Given the description of an element on the screen output the (x, y) to click on. 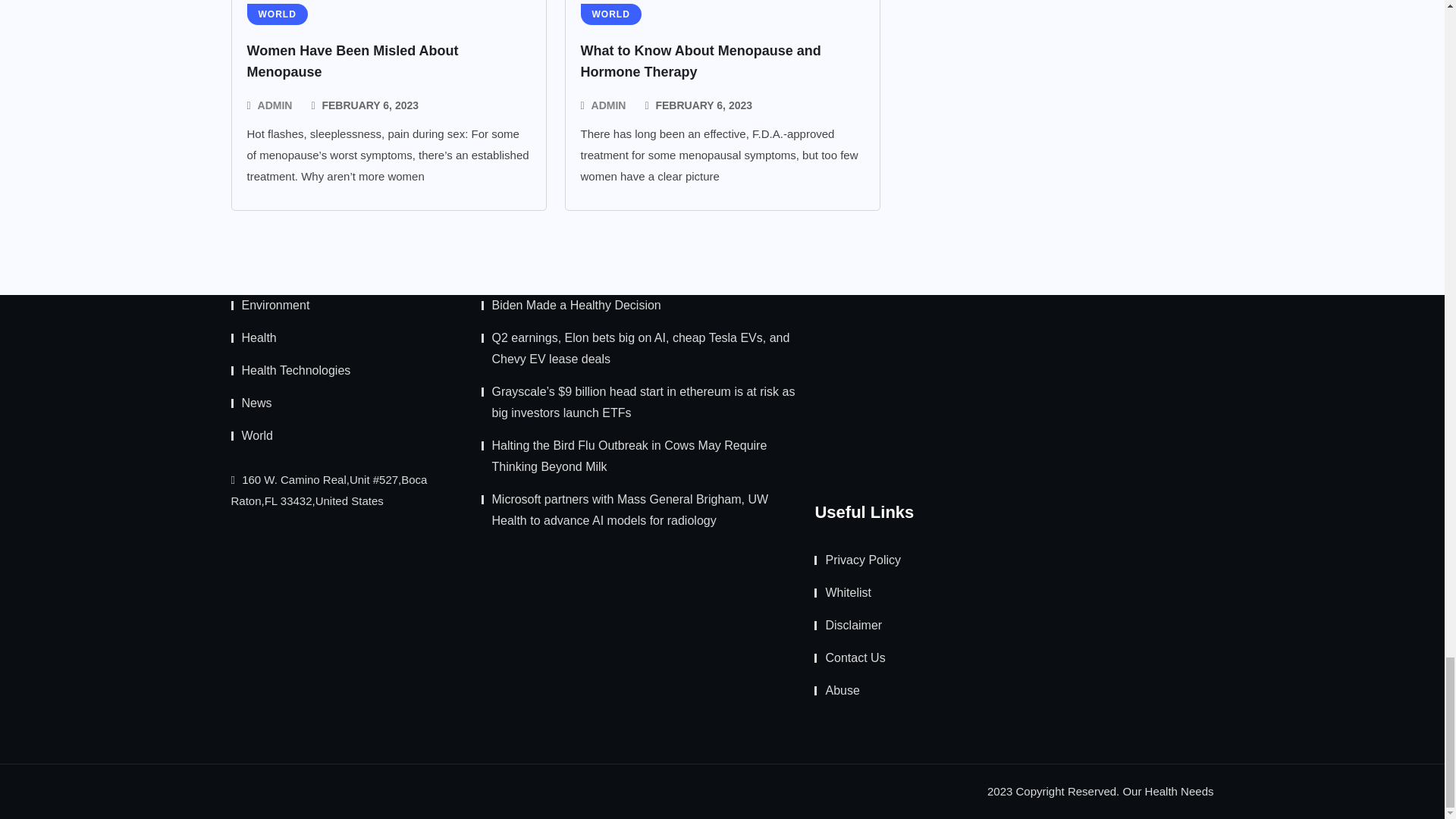
Posts by admin (608, 105)
Posts by admin (274, 105)
